Given the description of an element on the screen output the (x, y) to click on. 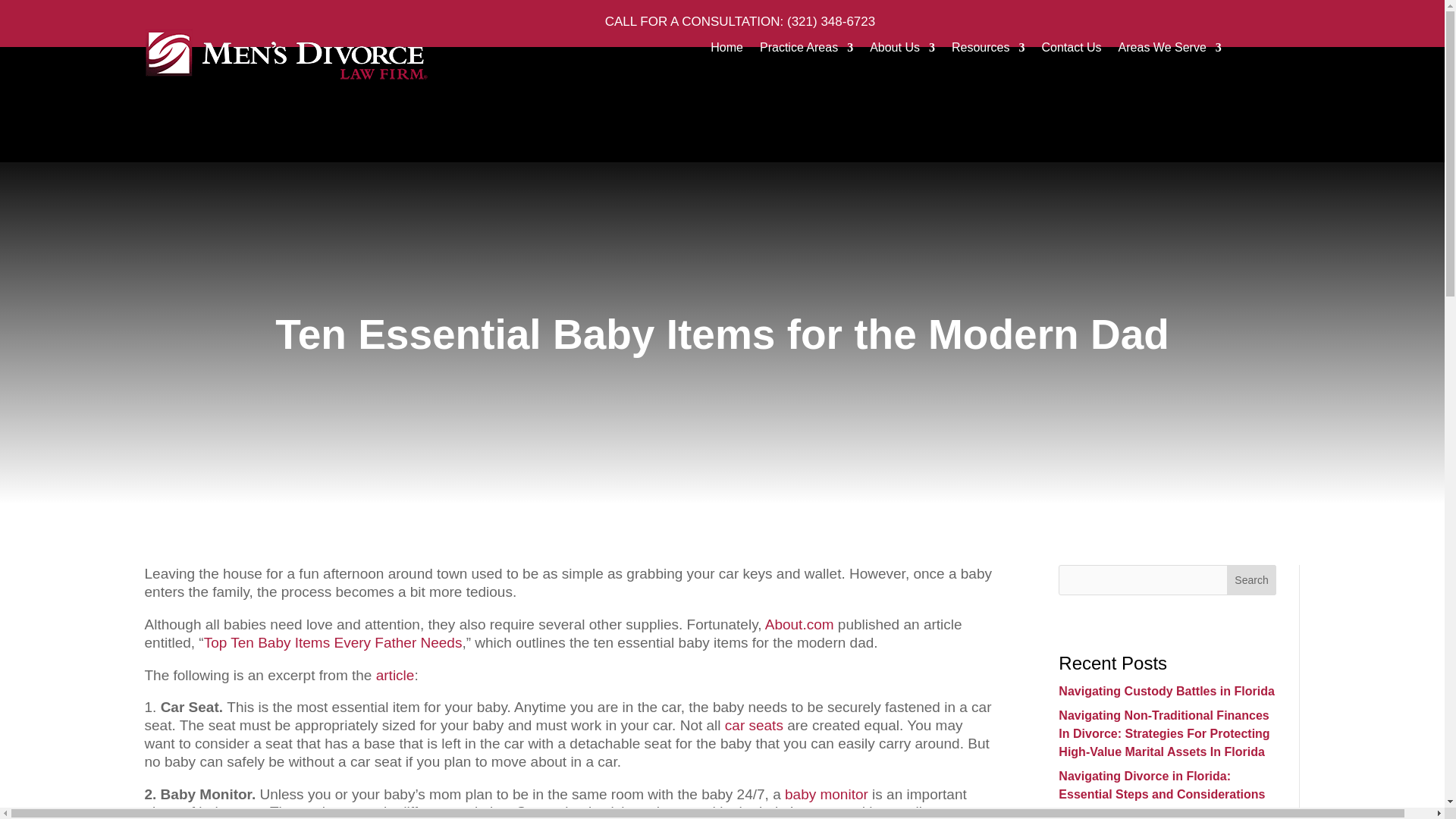
Contact Us (1070, 50)
Areas We Serve (1169, 50)
Practice Areas (806, 50)
About Us (901, 50)
Home (726, 50)
About.com (799, 624)
Resources (988, 50)
mens-divorce-law-firm-logo (285, 54)
